Given the description of an element on the screen output the (x, y) to click on. 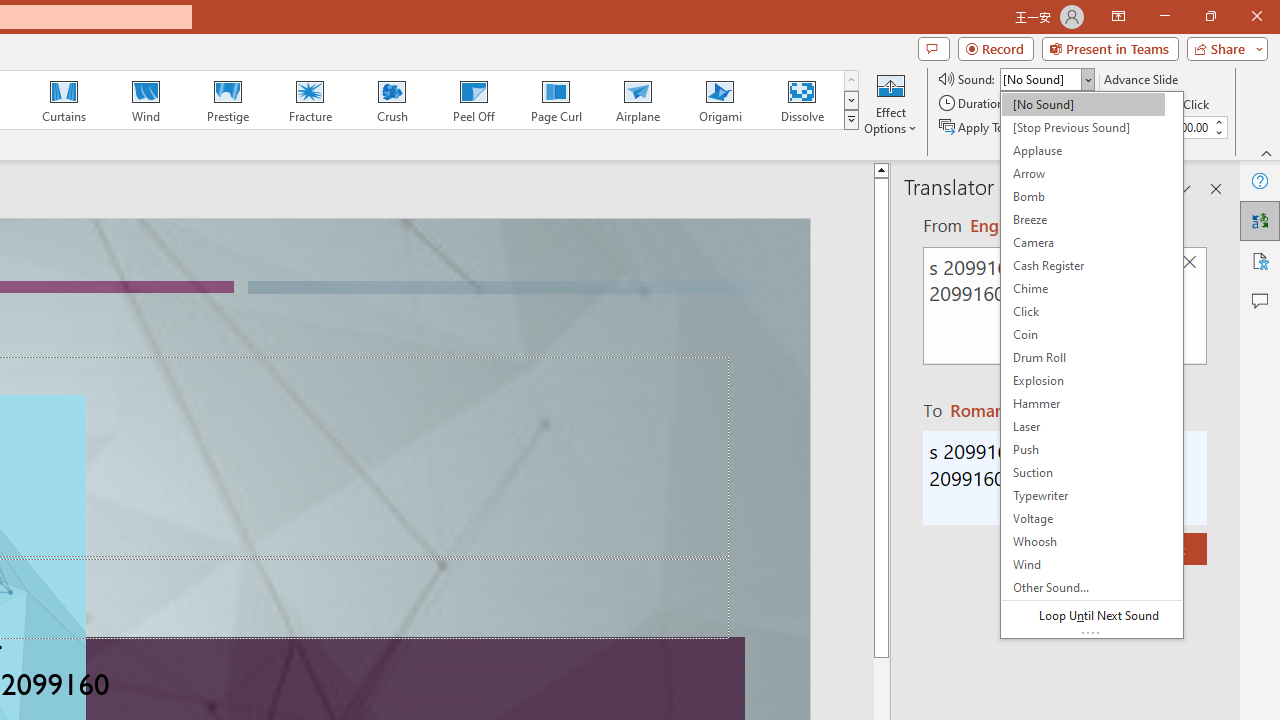
More (1218, 121)
Crush (391, 100)
Sound (1046, 78)
Prestige (227, 100)
